Given the description of an element on the screen output the (x, y) to click on. 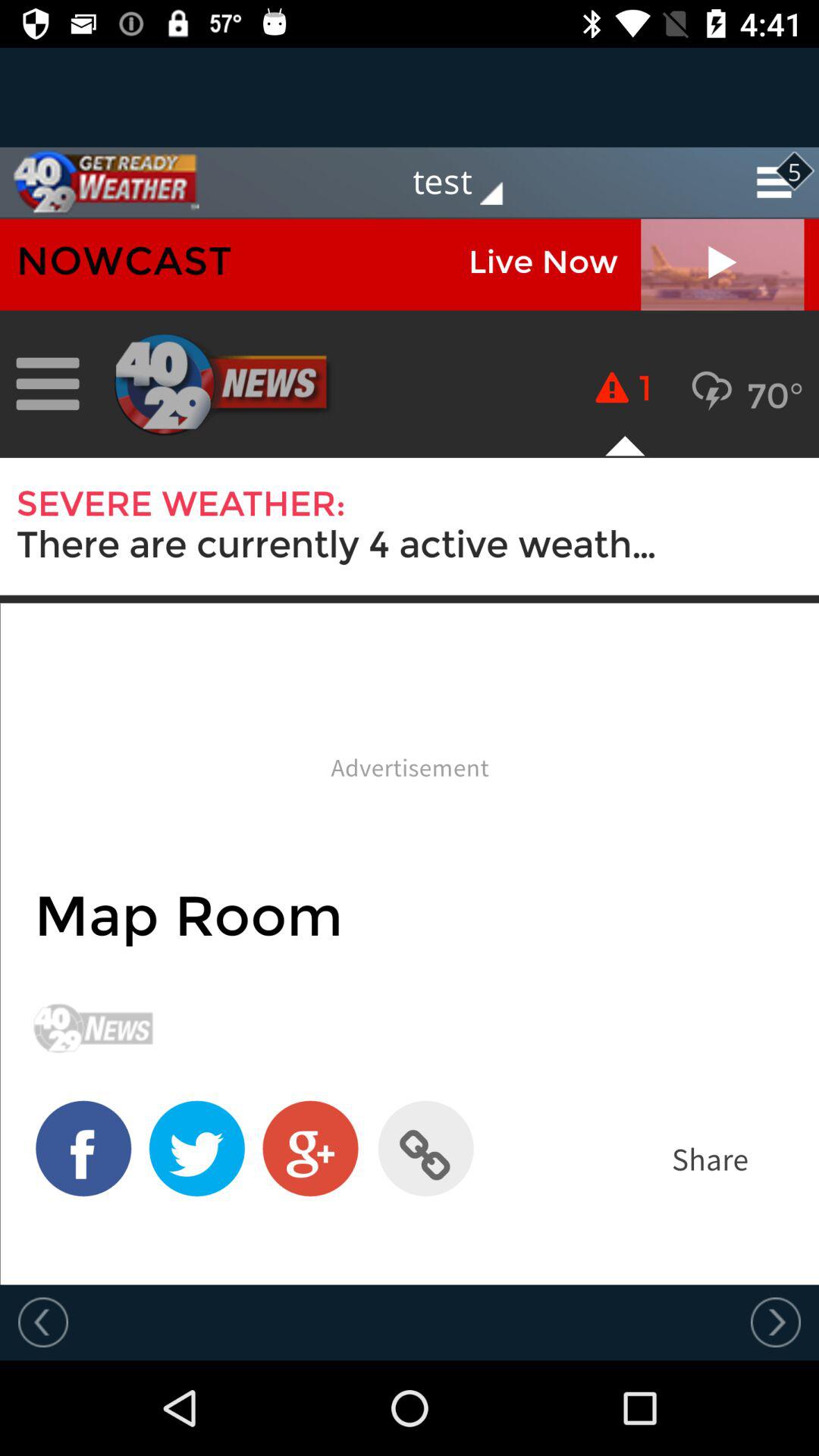
go to previous (775, 1322)
